Given the description of an element on the screen output the (x, y) to click on. 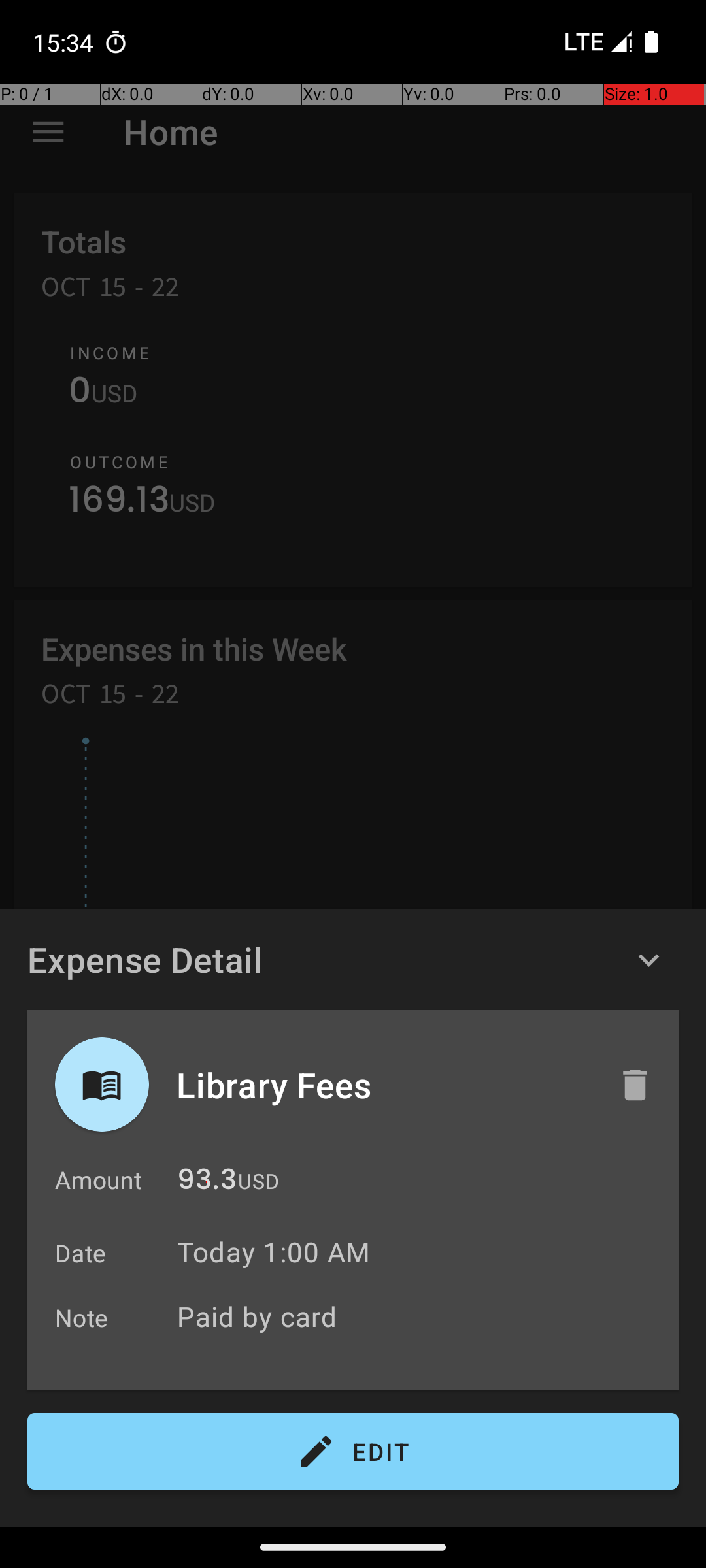
Library Fees Element type: android.widget.TextView (383, 1084)
93.3 Element type: android.widget.TextView (206, 1182)
Today 1:00 AM Element type: android.widget.TextView (273, 1251)
